Given the description of an element on the screen output the (x, y) to click on. 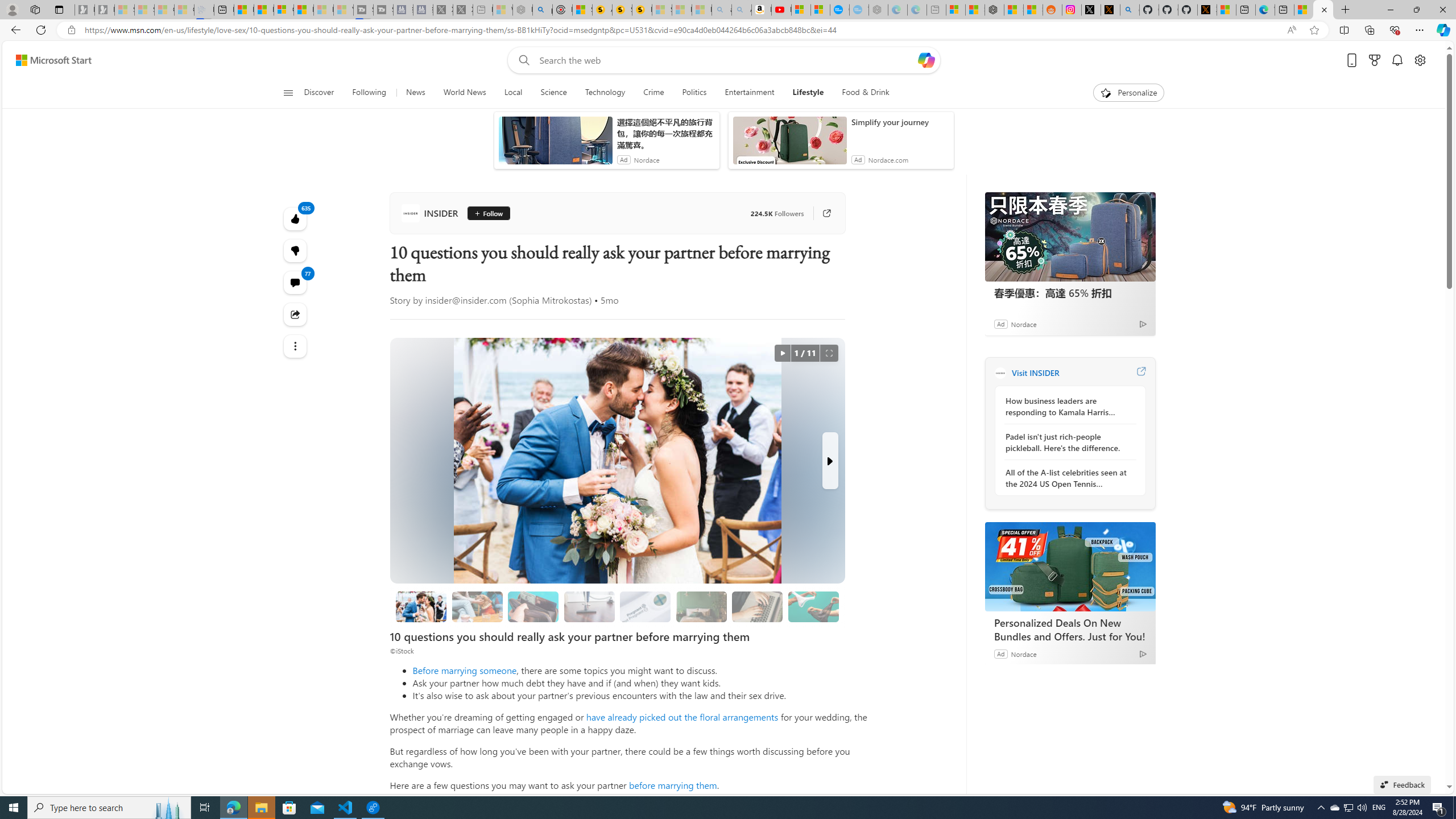
More like this635Fewer like thisView comments (295, 250)
Personalized Deals On New Bundles and Offers. Just for You! (1069, 628)
Food & Drink (860, 92)
Full screen (828, 352)
Web search (520, 60)
Visit INSIDER website (1140, 372)
